Given the description of an element on the screen output the (x, y) to click on. 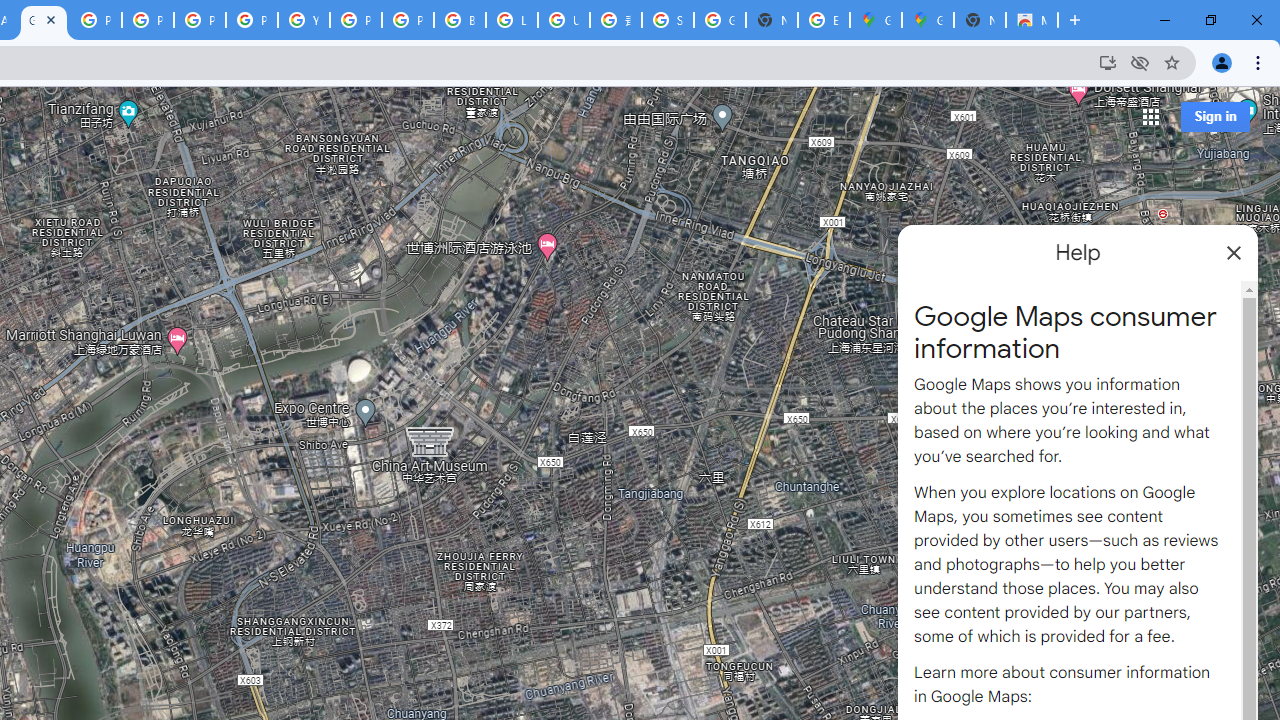
Install Google Maps (1107, 62)
Close Help Panel (1234, 252)
YouTube (303, 20)
Privacy Help Center - Policies Help (147, 20)
Policy Accountability and Transparency - Transparency Center (95, 20)
